Given the description of an element on the screen output the (x, y) to click on. 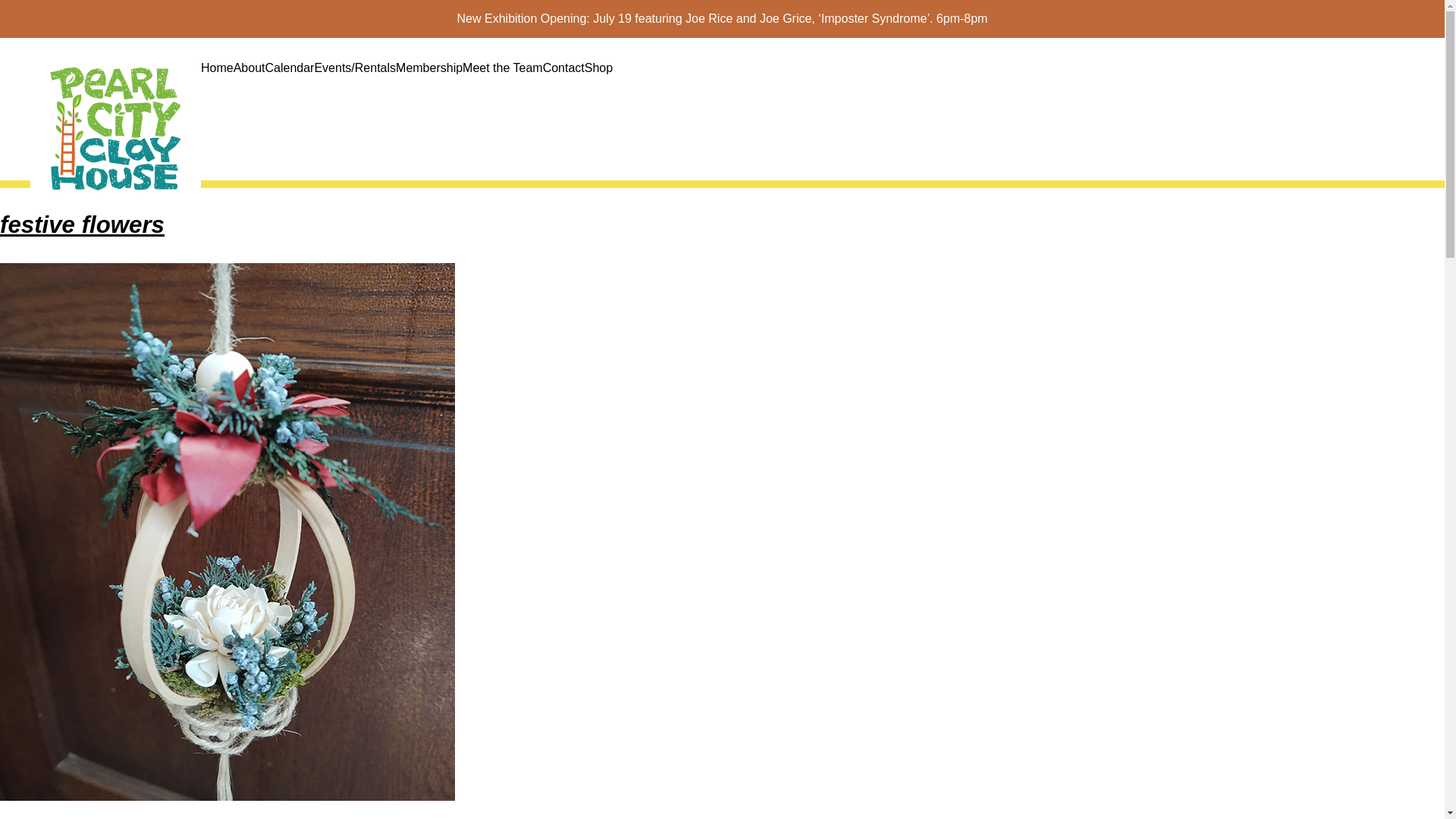
About (248, 67)
Calendar (289, 67)
Shop (598, 67)
Home (216, 67)
Membership (429, 67)
Meet the Team (503, 67)
Contact (564, 67)
festive flowers (82, 224)
